Given the description of an element on the screen output the (x, y) to click on. 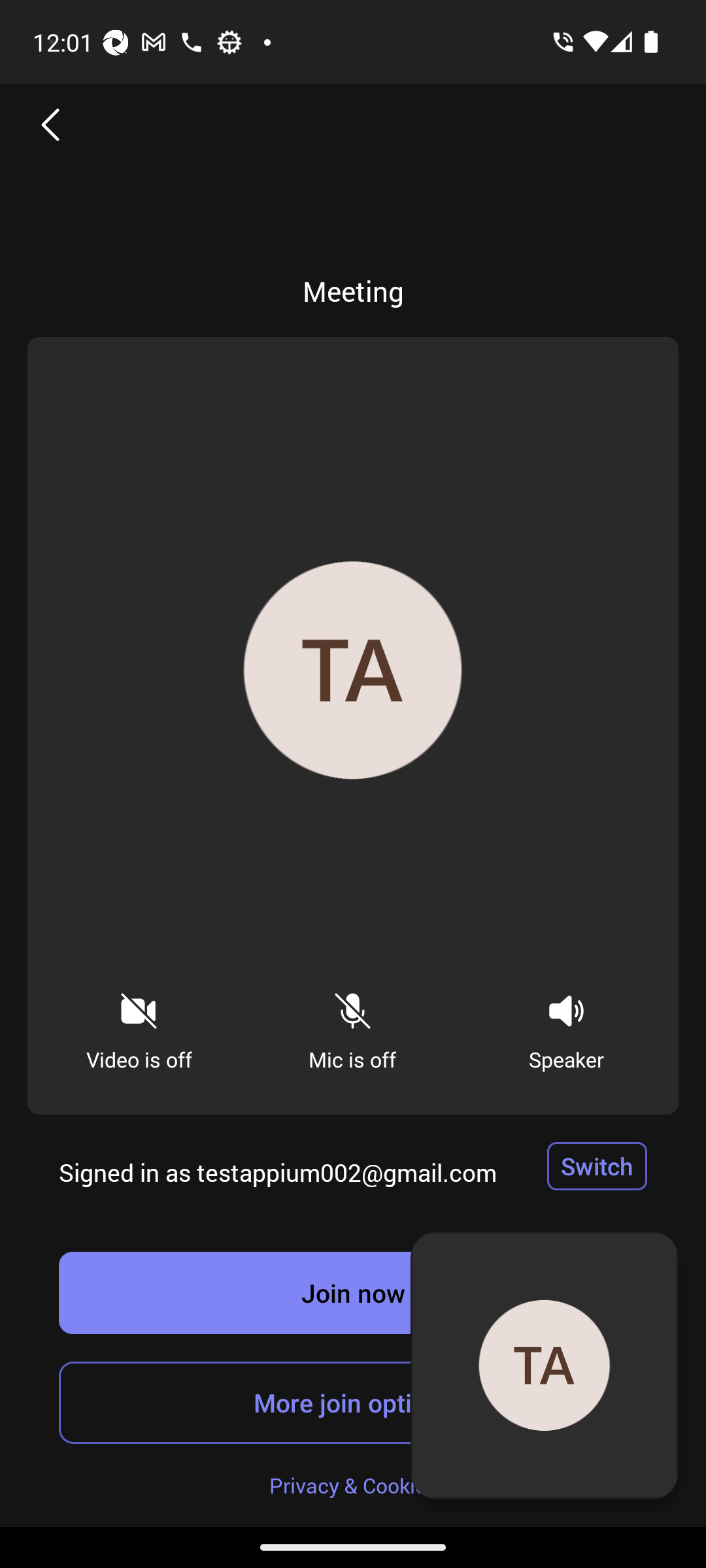
Back (51, 124)
Video is off (138, 1025)
Mic muted Mic is off (352, 1025)
Audio Speaker Audio Speaker (566, 1025)
Switch (597, 1165)
